Given the description of an element on the screen output the (x, y) to click on. 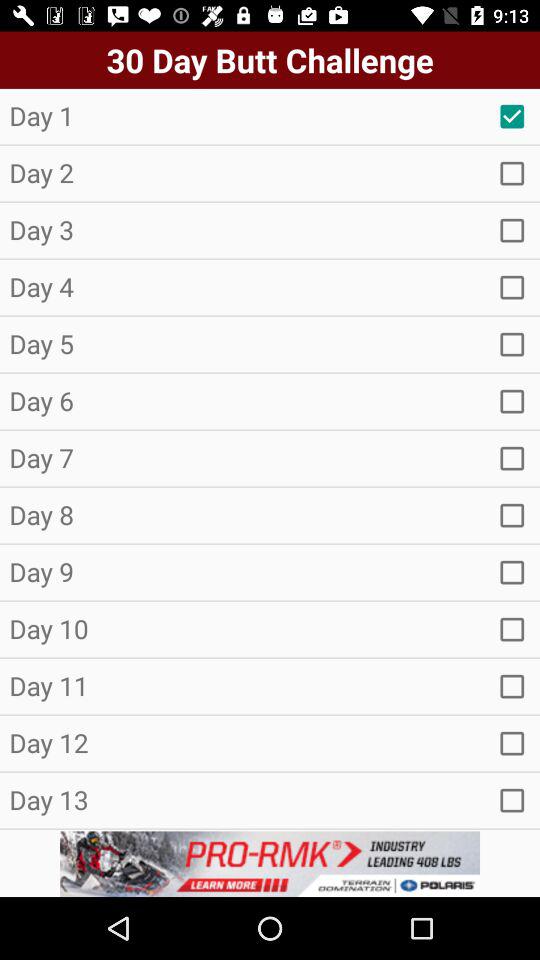
choose day 11 (512, 686)
